Given the description of an element on the screen output the (x, y) to click on. 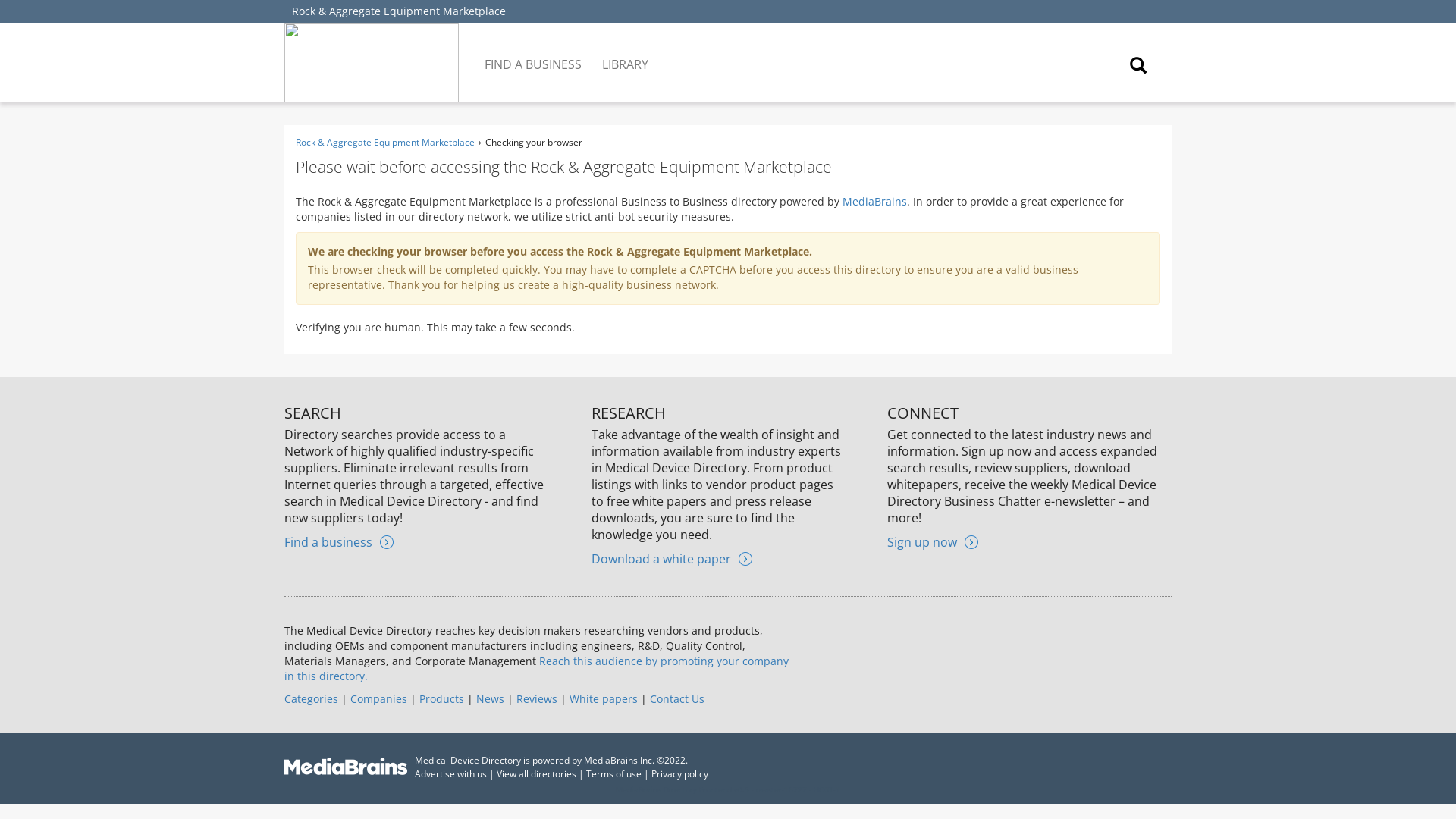
Terms of use (614, 773)
News (489, 698)
Contact Us (676, 698)
Find a business (338, 541)
Download a white paper (671, 558)
View all directories (536, 773)
Companies (378, 698)
LIBRARY (626, 52)
White papers (603, 698)
Advertise with us (450, 773)
FIND A BUSINESS (534, 52)
Categories (310, 698)
Privacy policy (678, 773)
MediaBrains (875, 201)
